Given the description of an element on the screen output the (x, y) to click on. 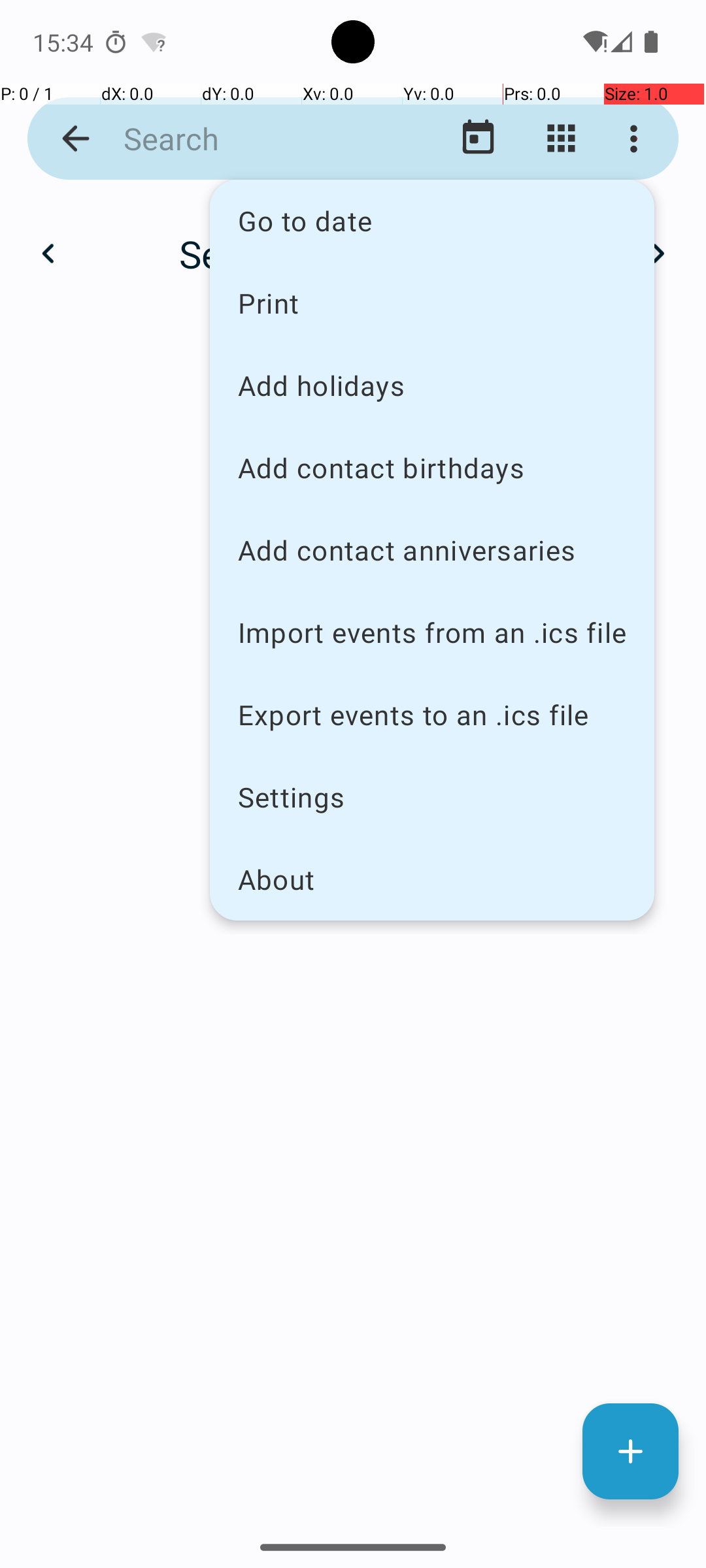
Go to date Element type: android.widget.TextView (431, 220)
Print Element type: android.widget.TextView (431, 302)
Add holidays Element type: android.widget.TextView (431, 384)
Add contact birthdays Element type: android.widget.TextView (431, 467)
Add contact anniversaries Element type: android.widget.TextView (431, 549)
Import events from an .ics file Element type: android.widget.TextView (431, 631)
Export events to an .ics file Element type: android.widget.TextView (431, 714)
